Given the description of an element on the screen output the (x, y) to click on. 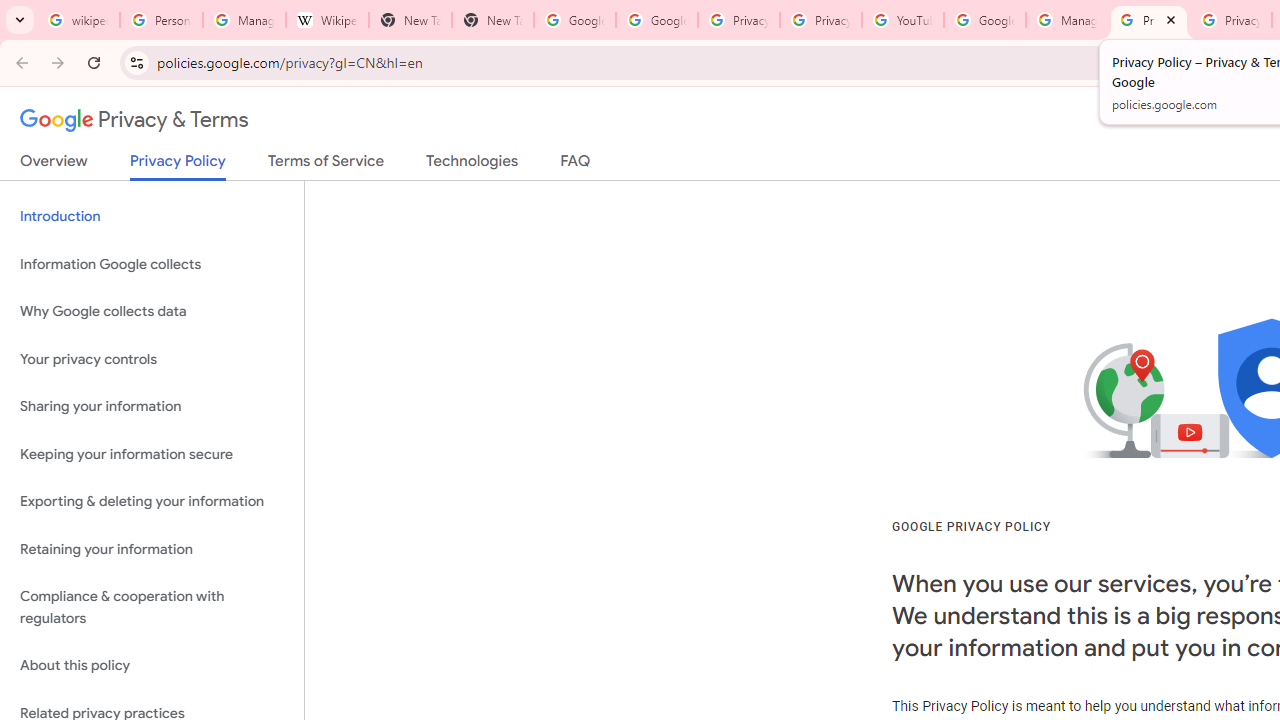
New Tab (492, 20)
Manage your Location History - Google Search Help (244, 20)
